Given the description of an element on the screen output the (x, y) to click on. 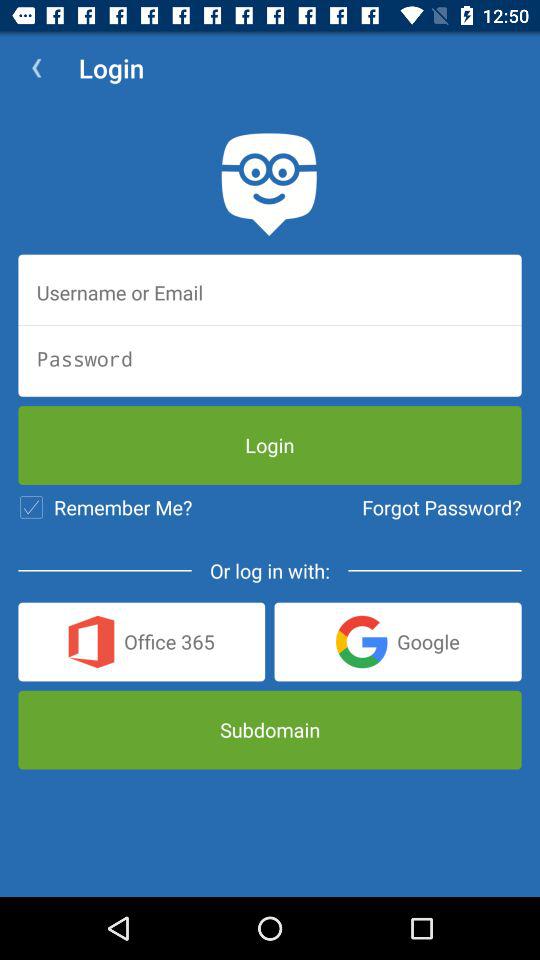
tap the icon to the left of the login (36, 68)
